Given the description of an element on the screen output the (x, y) to click on. 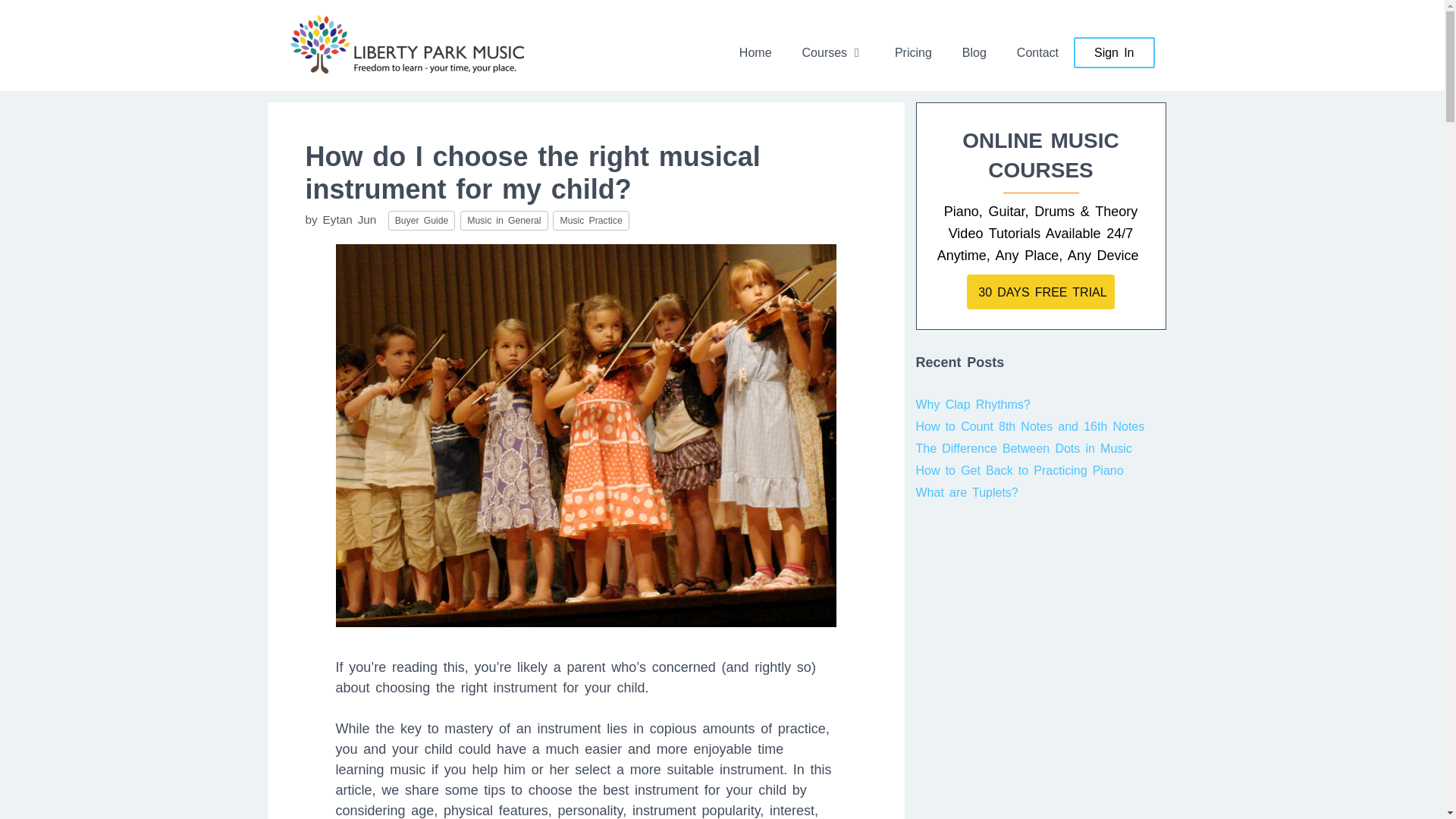
View all posts by Eytan Jun (350, 219)
Liberty Park Music (405, 44)
Pricing (913, 52)
Liberty Park Music (405, 43)
Courses (833, 52)
